Given the description of an element on the screen output the (x, y) to click on. 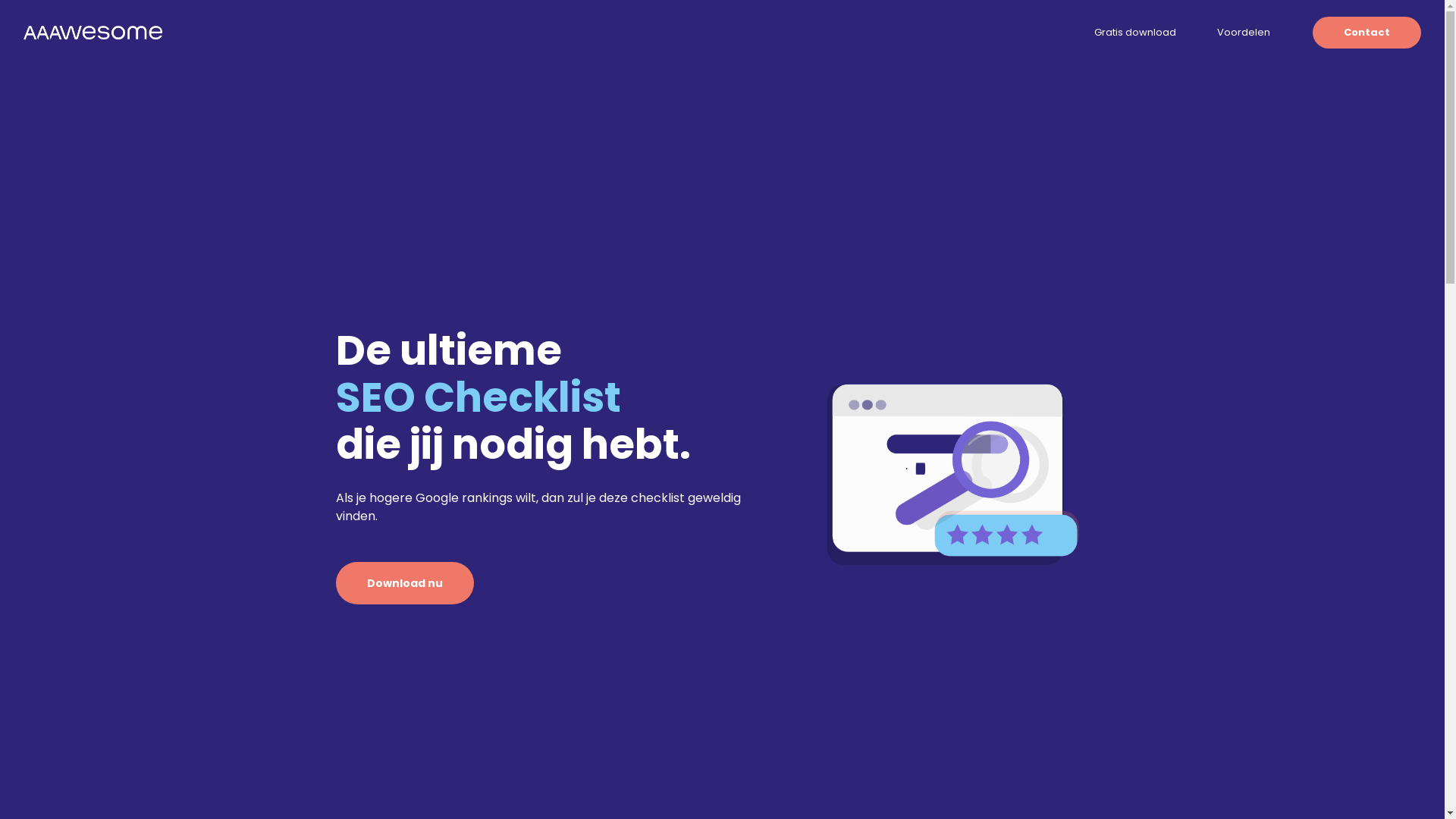
Gratis download Element type: text (1135, 32)
Download nu Element type: text (404, 582)
Voordelen Element type: text (1243, 32)
Contact Element type: text (1366, 32)
